Given the description of an element on the screen output the (x, y) to click on. 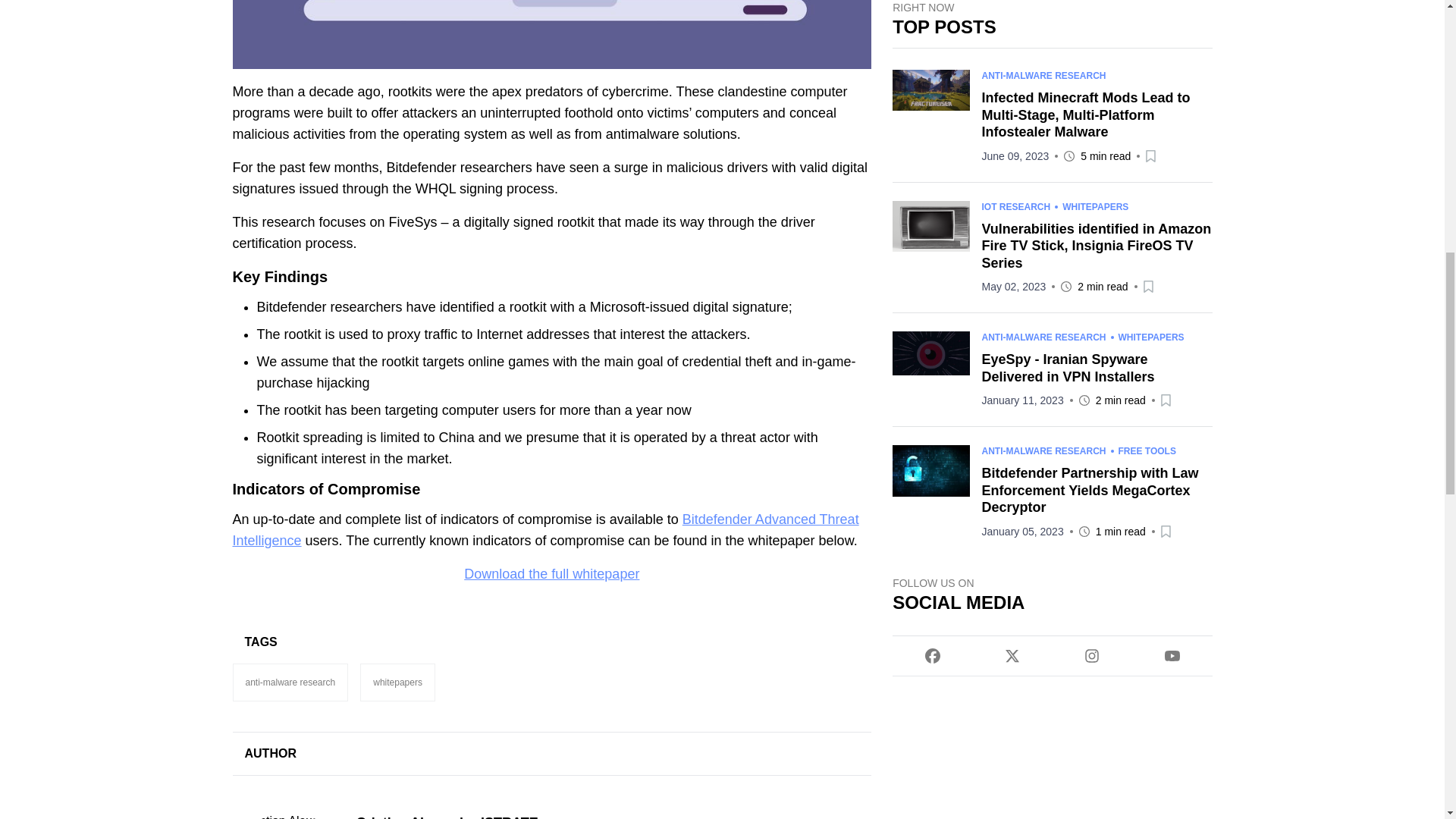
Cristian Alexandru ISTRATE (614, 815)
Bitdefender Advanced Threat Intelligence (545, 529)
Download the full whitepaper (551, 573)
anti-malware research (289, 682)
whitepapers (397, 682)
